Given the description of an element on the screen output the (x, y) to click on. 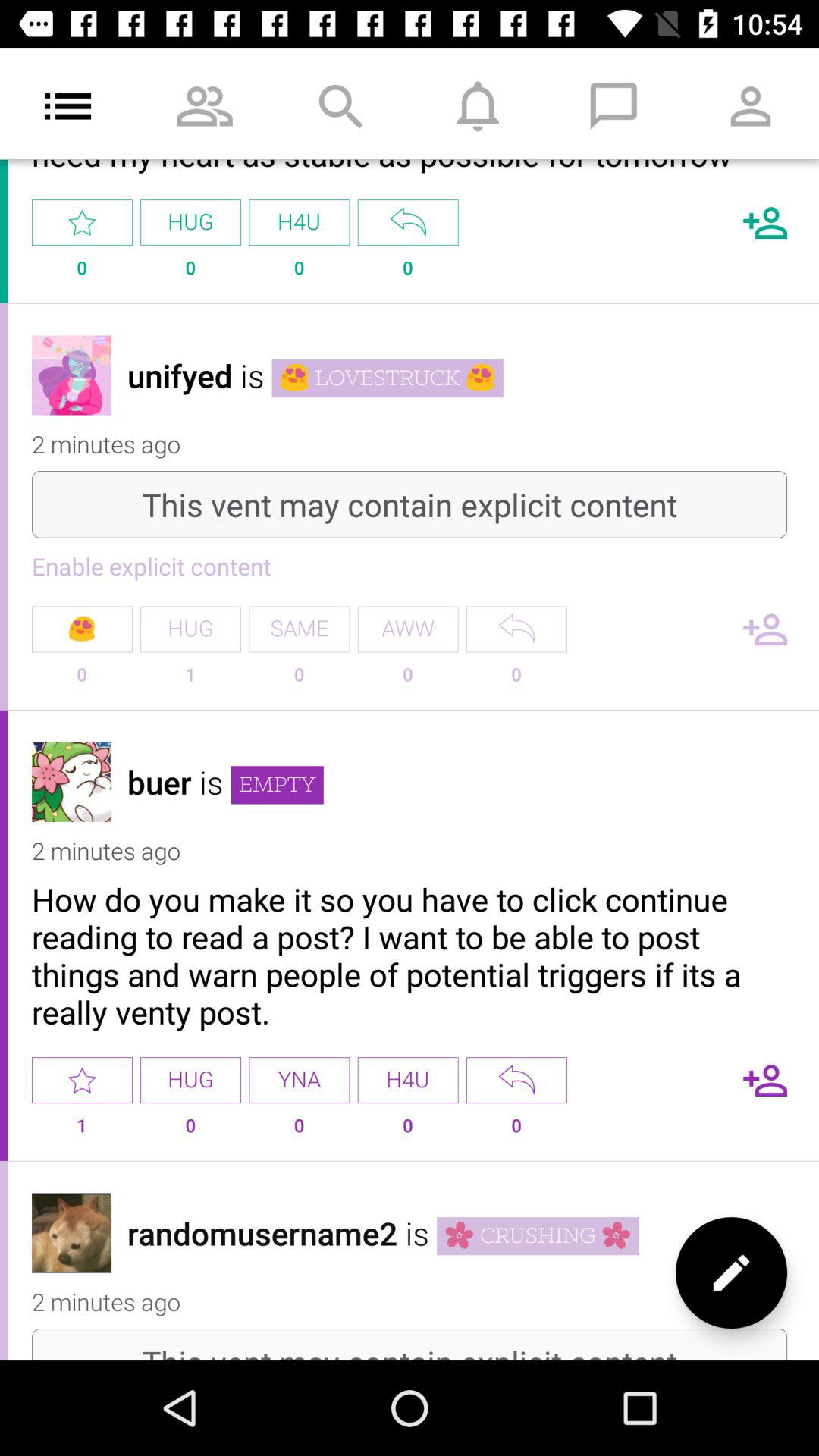
user avatar (71, 375)
